Given the description of an element on the screen output the (x, y) to click on. 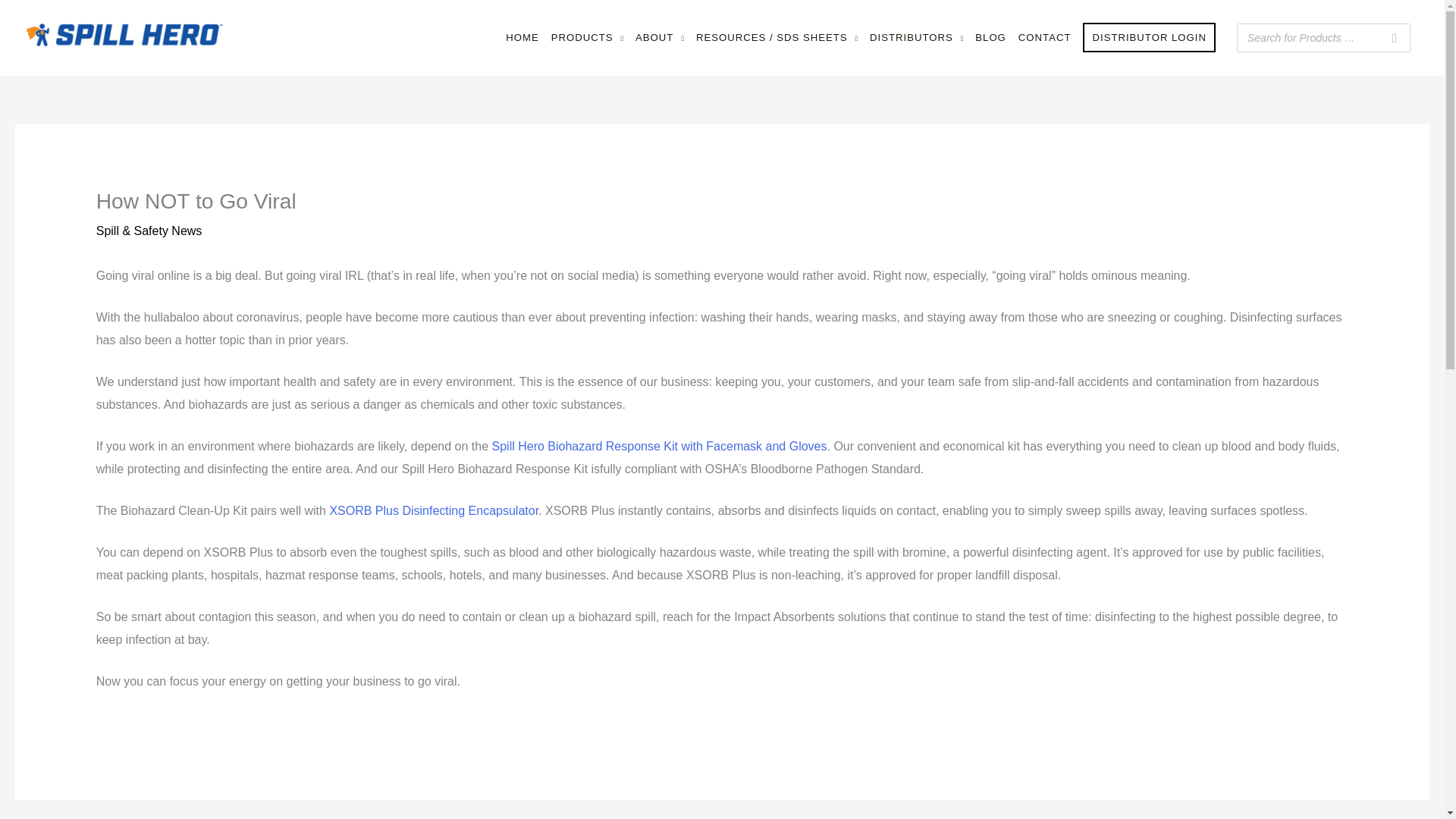
HOME (521, 37)
Spill Hero Biohazard Response Kit with Facemask and Gloves (659, 445)
PRODUCTS (586, 37)
BLOG (990, 37)
CONTACT (1044, 37)
ABOUT (659, 37)
XSORB Plus Disinfecting Encapsulator (433, 510)
DISTRIBUTORS (916, 37)
DISTRIBUTOR LOGIN (1149, 37)
